Given the description of an element on the screen output the (x, y) to click on. 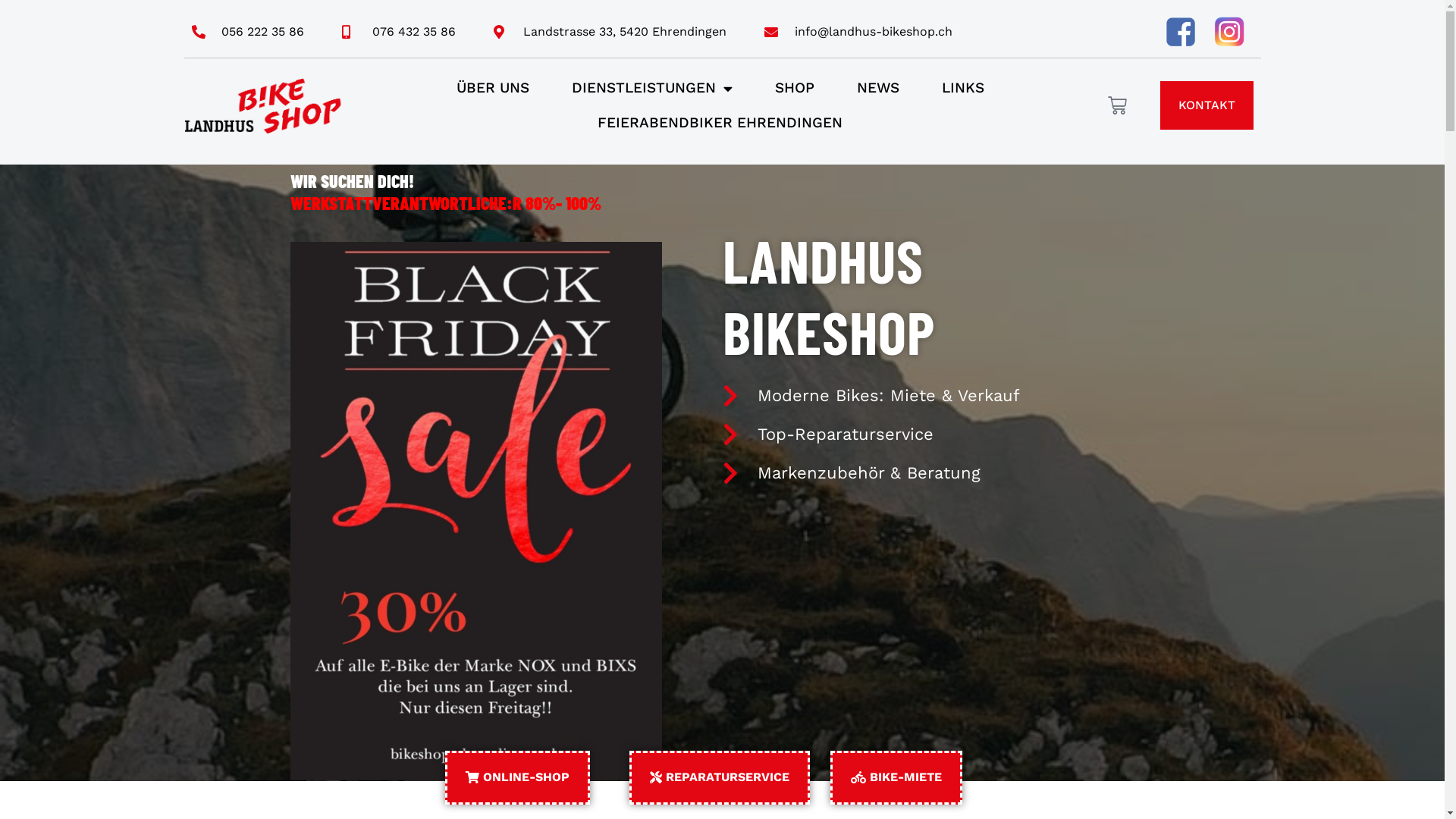
ONLINE-SHOP Element type: text (517, 777)
WIR SUCHEN DICH! Element type: text (351, 180)
DIENSTLEISTUNGEN Element type: text (651, 87)
KONTAKT Element type: text (1206, 105)
BIKE-MIETE Element type: text (896, 777)
NEWS Element type: text (877, 87)
FEIERABENDBIKER EHRENDINGEN Element type: text (719, 122)
SHOP Element type: text (794, 87)
REPARATURSERVICE Element type: text (719, 777)
info@landhus-bikeshop.ch Element type: text (858, 31)
LINKS Element type: text (962, 87)
